Given the description of an element on the screen output the (x, y) to click on. 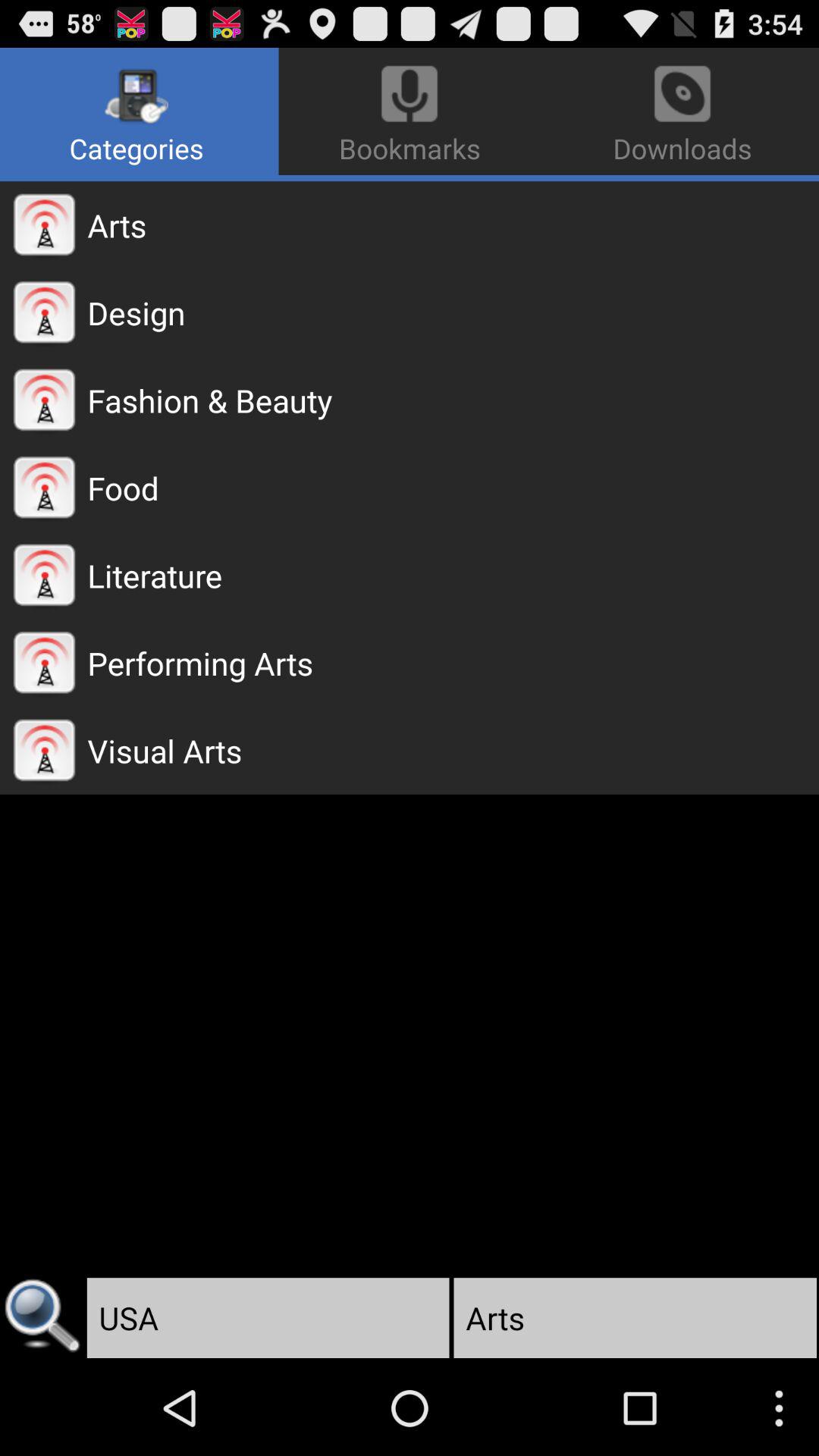
press food (453, 487)
